Given the description of an element on the screen output the (x, y) to click on. 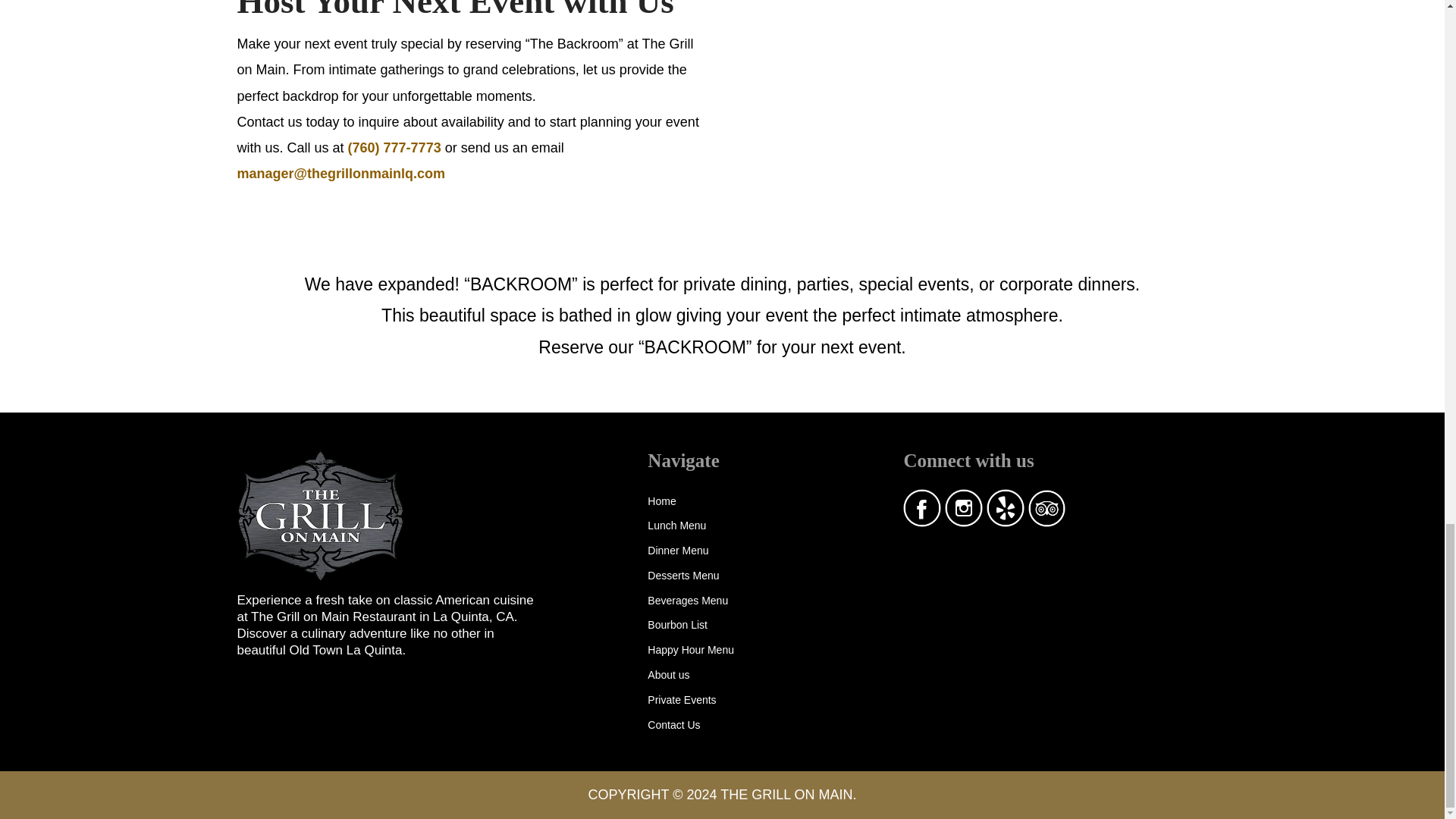
Happy Hour Menu (690, 652)
Bourbon List (677, 628)
Lunch Menu (676, 528)
Private Events (681, 702)
Desserts Menu (683, 578)
Contact Us (673, 728)
Home (661, 503)
About us (667, 678)
Dinner Menu (677, 553)
Beverages Menu (687, 603)
